Given the description of an element on the screen output the (x, y) to click on. 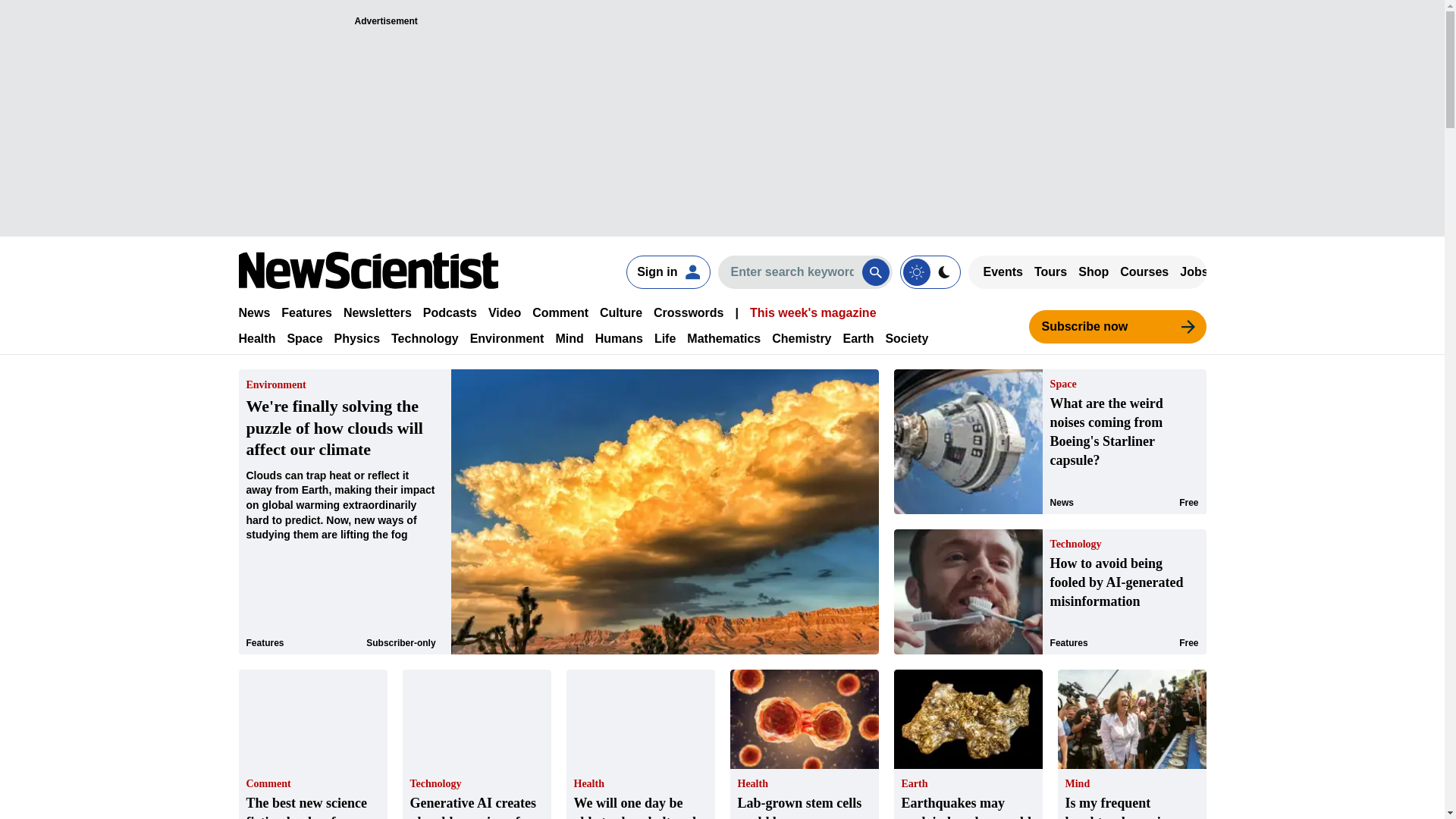
Podcasts (450, 313)
Comment (560, 313)
Humans (619, 338)
Society (906, 338)
Chemistry (801, 338)
Physics (357, 338)
Mathematics (723, 338)
Sign In page link (668, 272)
Health (256, 338)
Mind (568, 338)
